Given the description of an element on the screen output the (x, y) to click on. 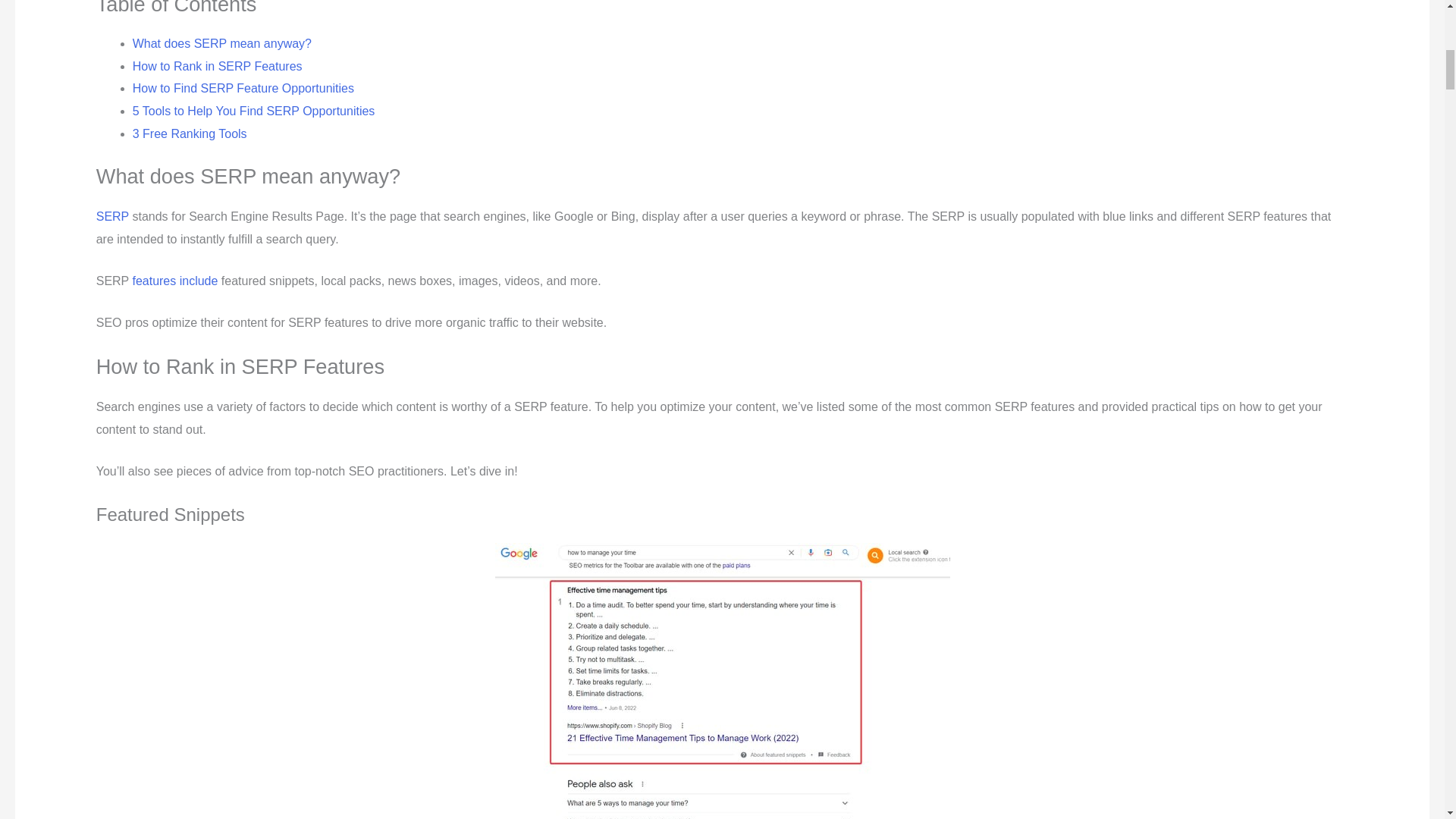
What does SERP mean anyway? (221, 42)
SERP (112, 215)
How to Find SERP Feature Opportunities (242, 88)
3 Free Ranking Tools (189, 133)
How to Rank in SERP Features (217, 65)
features include (174, 280)
5 Tools to Help You Find SERP Opportunities (253, 110)
